Given the description of an element on the screen output the (x, y) to click on. 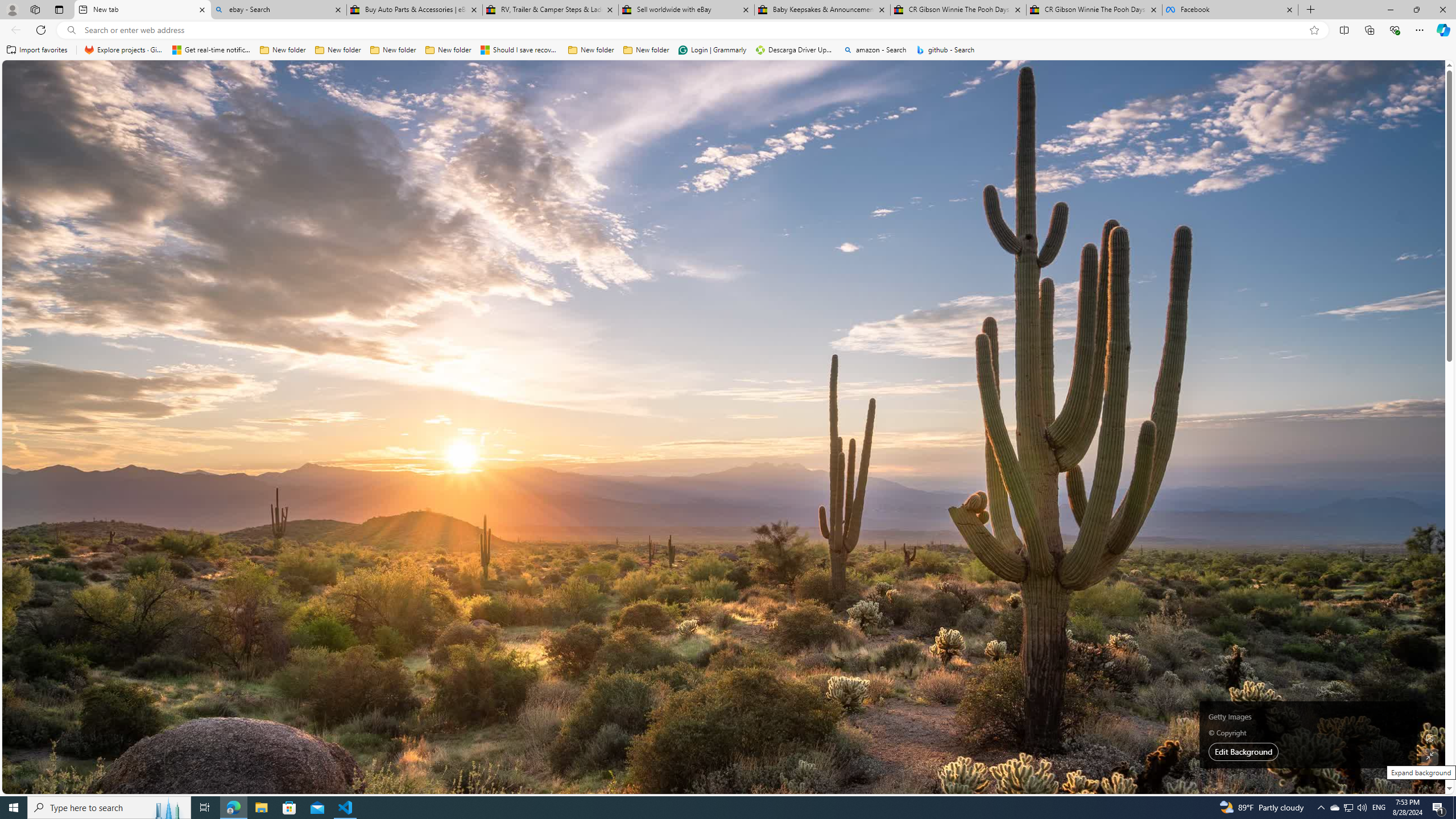
Class: weather-arrow-glyph (1152, 208)
See more hotels (1123, 509)
AutomationID: tab-15 (426, 328)
View comments 1 Comment (352, 327)
Forge of Empires (495, 625)
See full forecast (1123, 329)
Should I save recovered Word documents? - Microsoft Support (519, 49)
